Given the description of an element on the screen output the (x, y) to click on. 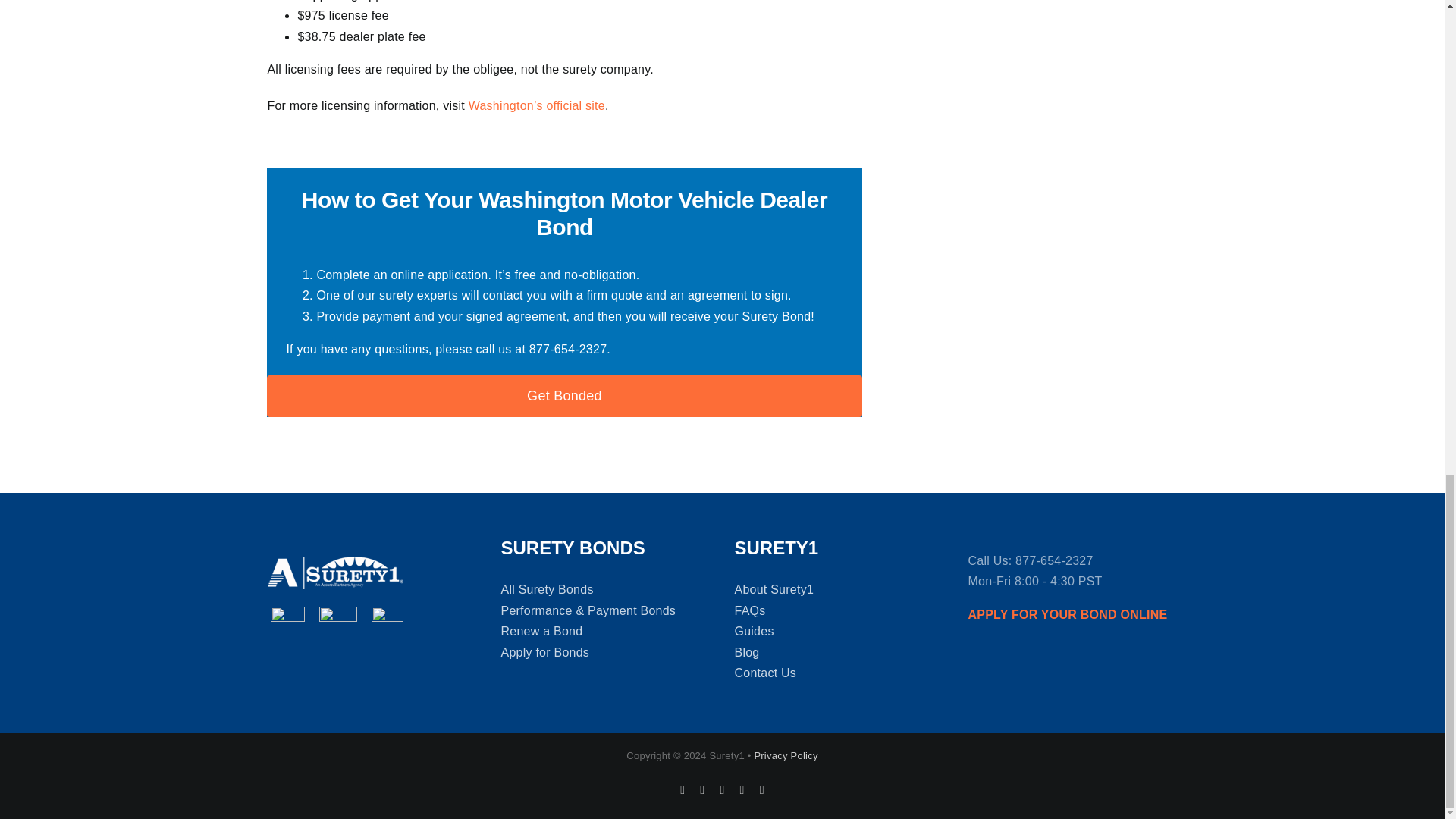
YouTube (741, 789)
X (702, 789)
LinkedIn (762, 789)
Facebook (681, 789)
Yelp (721, 789)
